Given the description of an element on the screen output the (x, y) to click on. 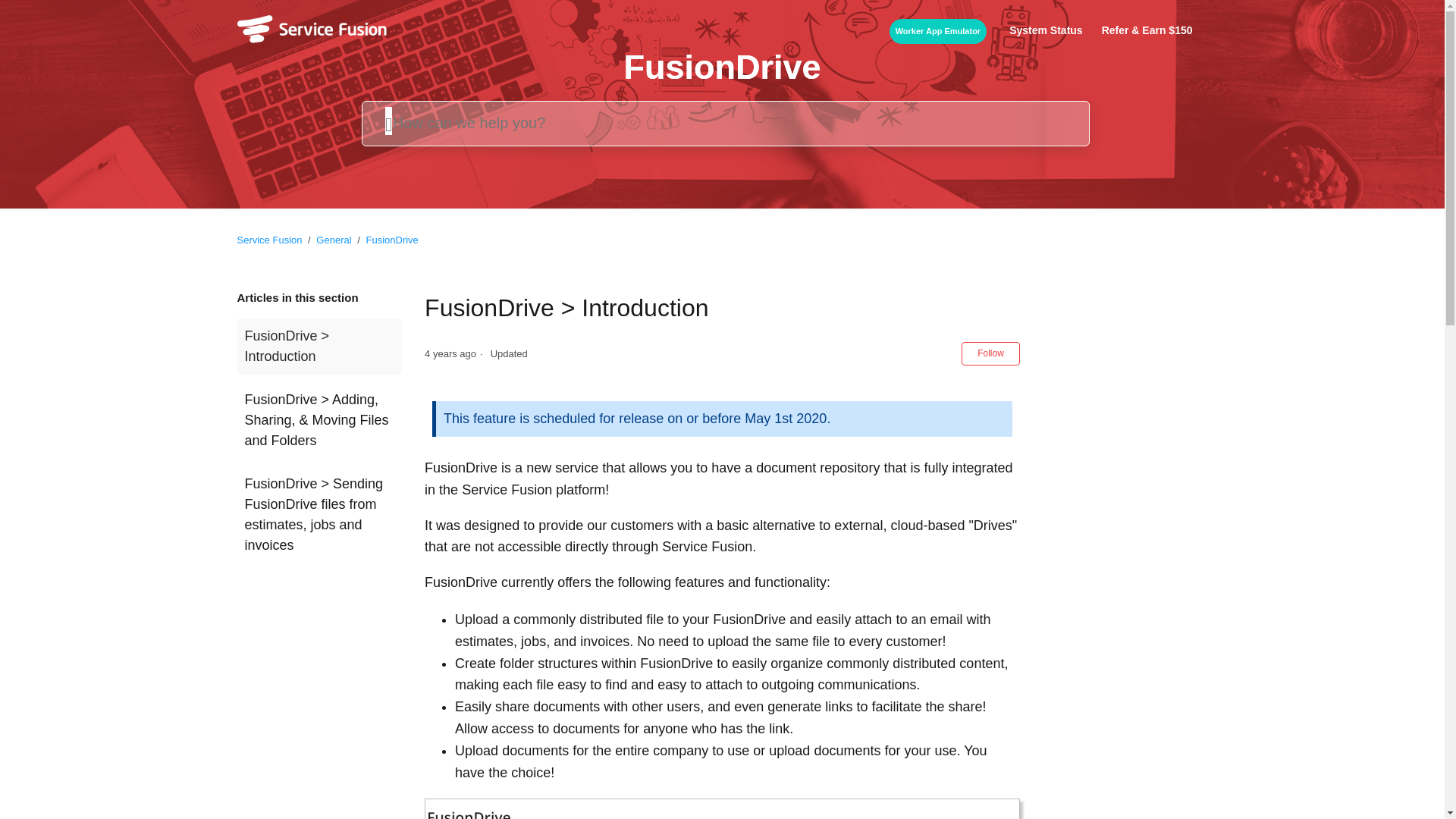
Follow (990, 353)
Service Fusion (269, 239)
Service Fusion (268, 239)
2020-05-01 21:13 (450, 353)
General (332, 239)
Home (310, 38)
Worker App Emulator (945, 31)
Opens a sign-in dialog (990, 353)
FusionDrive (386, 239)
System Status (1053, 30)
